Given the description of an element on the screen output the (x, y) to click on. 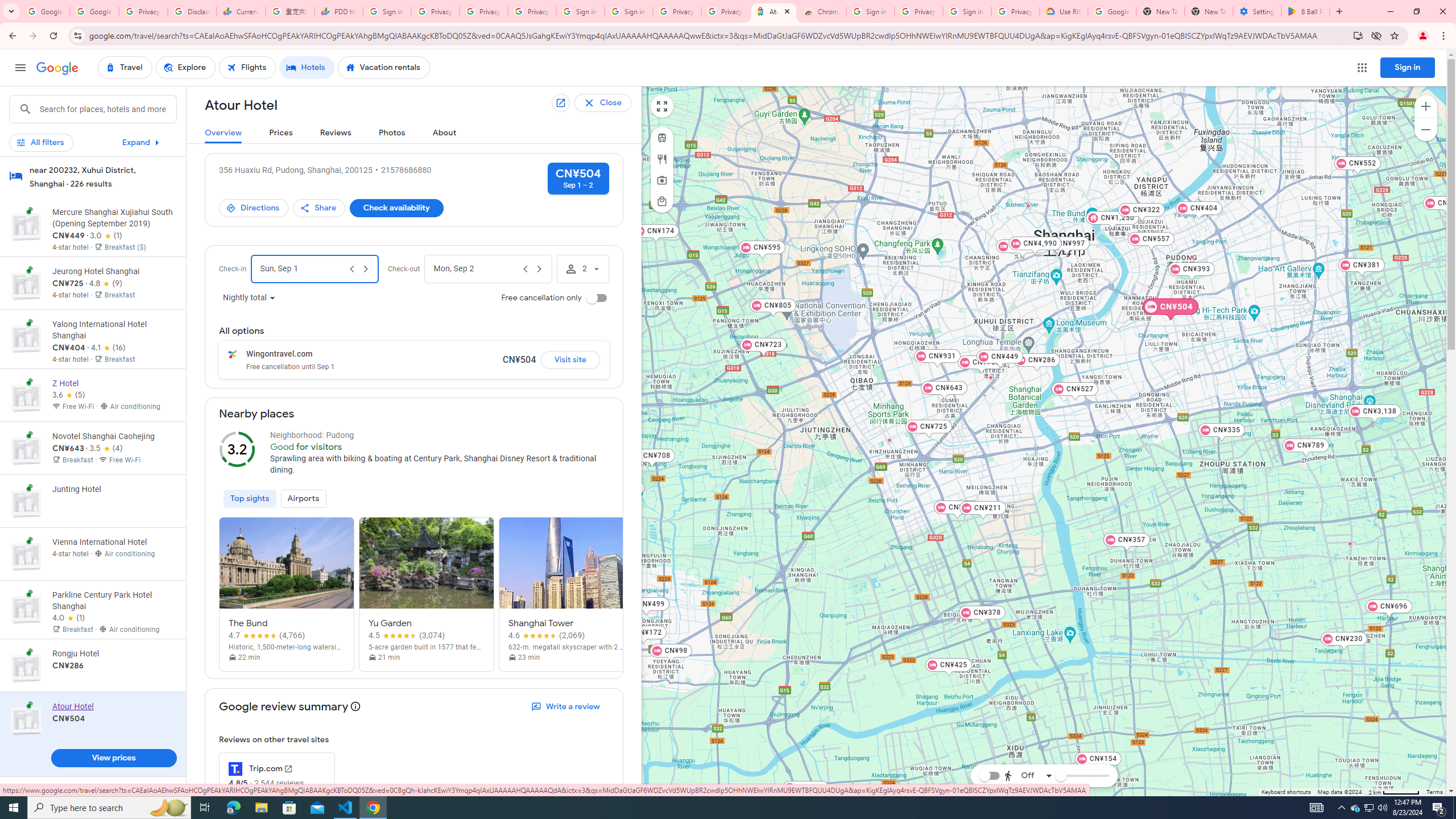
Chrome Web Store - Color themes by Chrome (822, 11)
View prices for Rongju Hotel (113, 705)
Privacy Checkup (532, 11)
Sign in - Google Accounts (870, 11)
Check-in (302, 268)
Z Hotel (1076, 239)
View prices (113, 758)
View prices for Vienna International Hotel (113, 593)
